Given the description of an element on the screen output the (x, y) to click on. 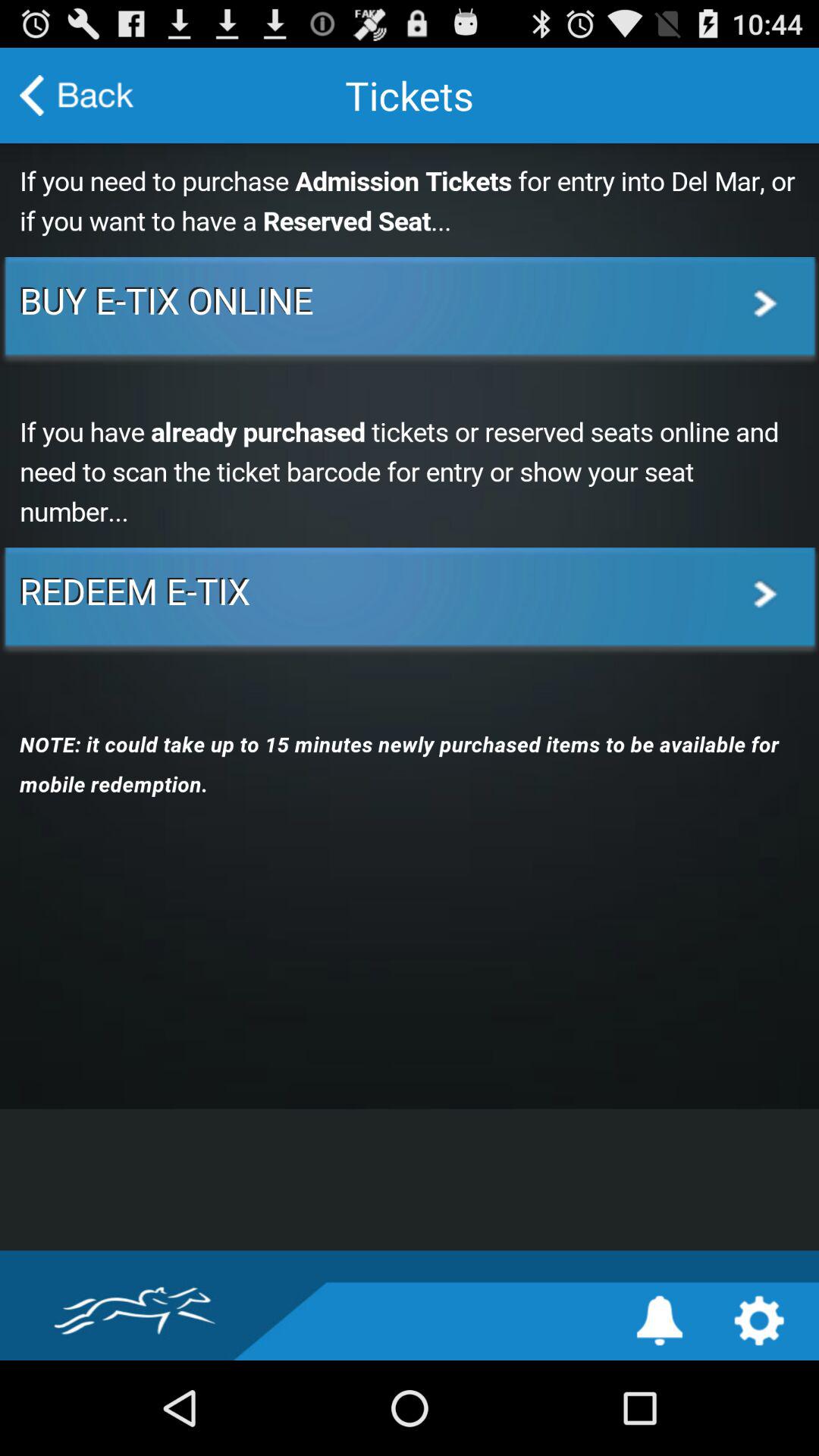
bell button (659, 1320)
